Given the description of an element on the screen output the (x, y) to click on. 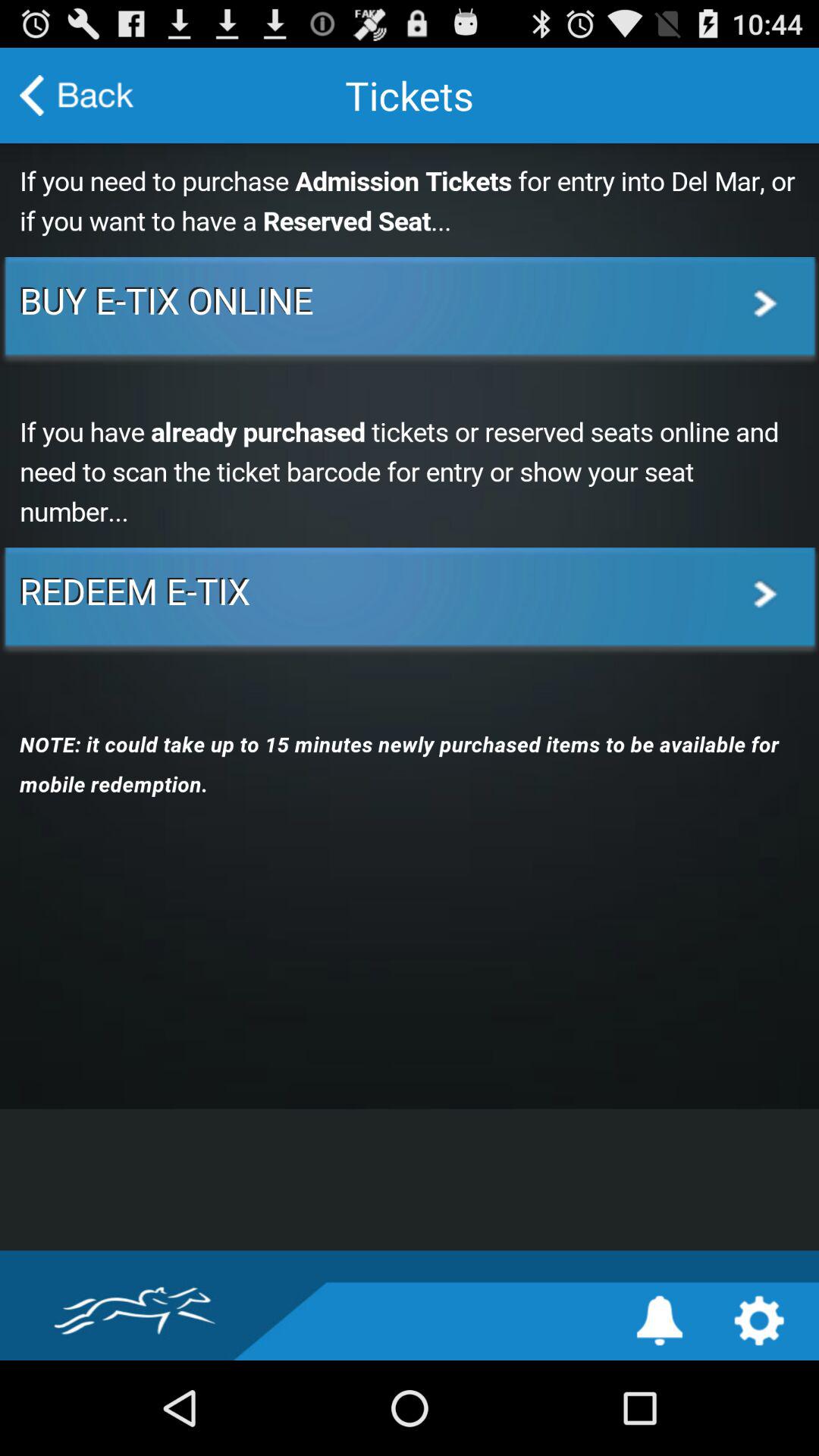
bell button (659, 1320)
